Given the description of an element on the screen output the (x, y) to click on. 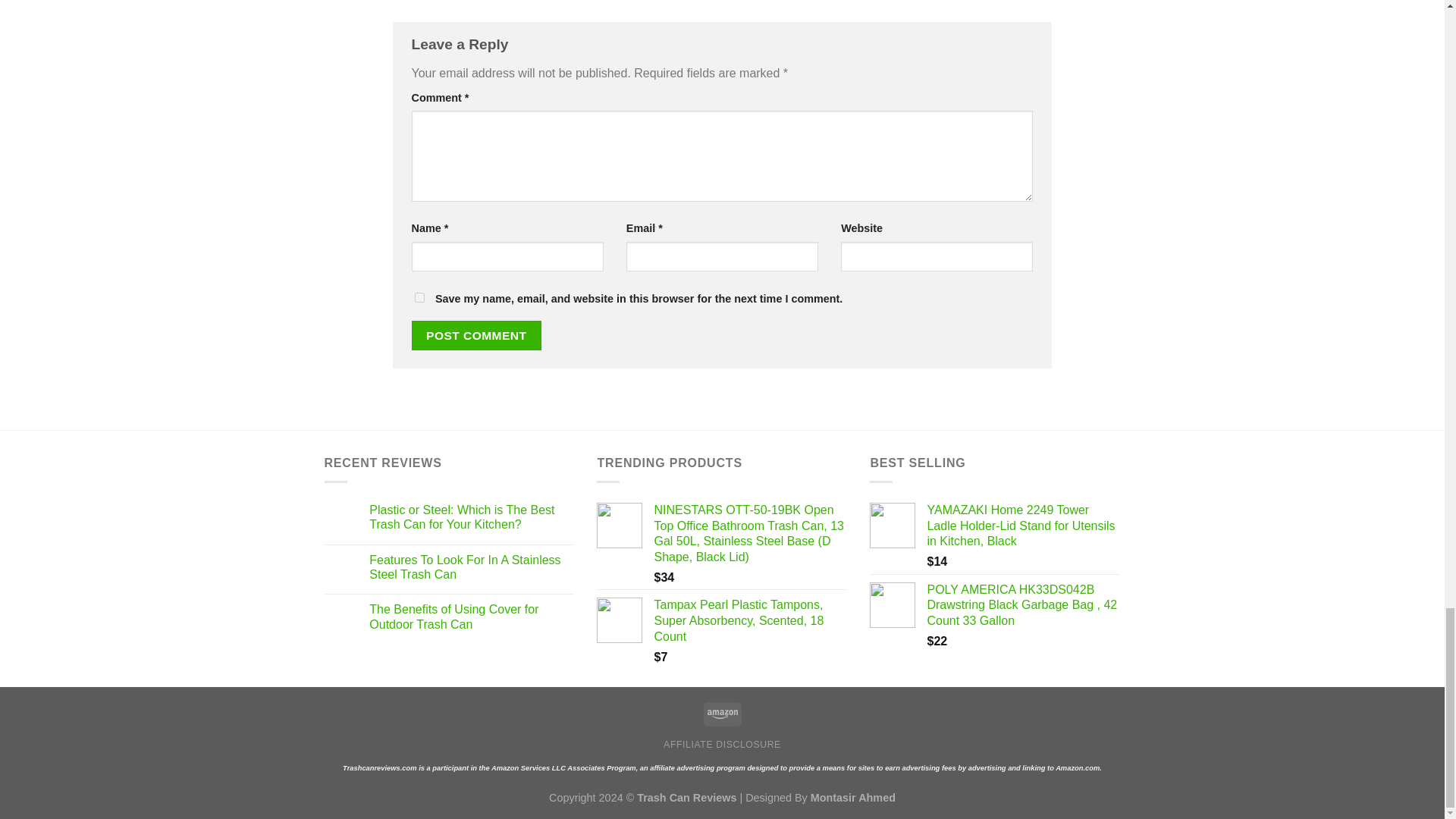
yes (418, 297)
Features To Look For In A Stainless Steel Trash Can (471, 566)
The Benefits of Using Cover for Outdoor Trash Can (471, 615)
Post Comment (475, 335)
